Given the description of an element on the screen output the (x, y) to click on. 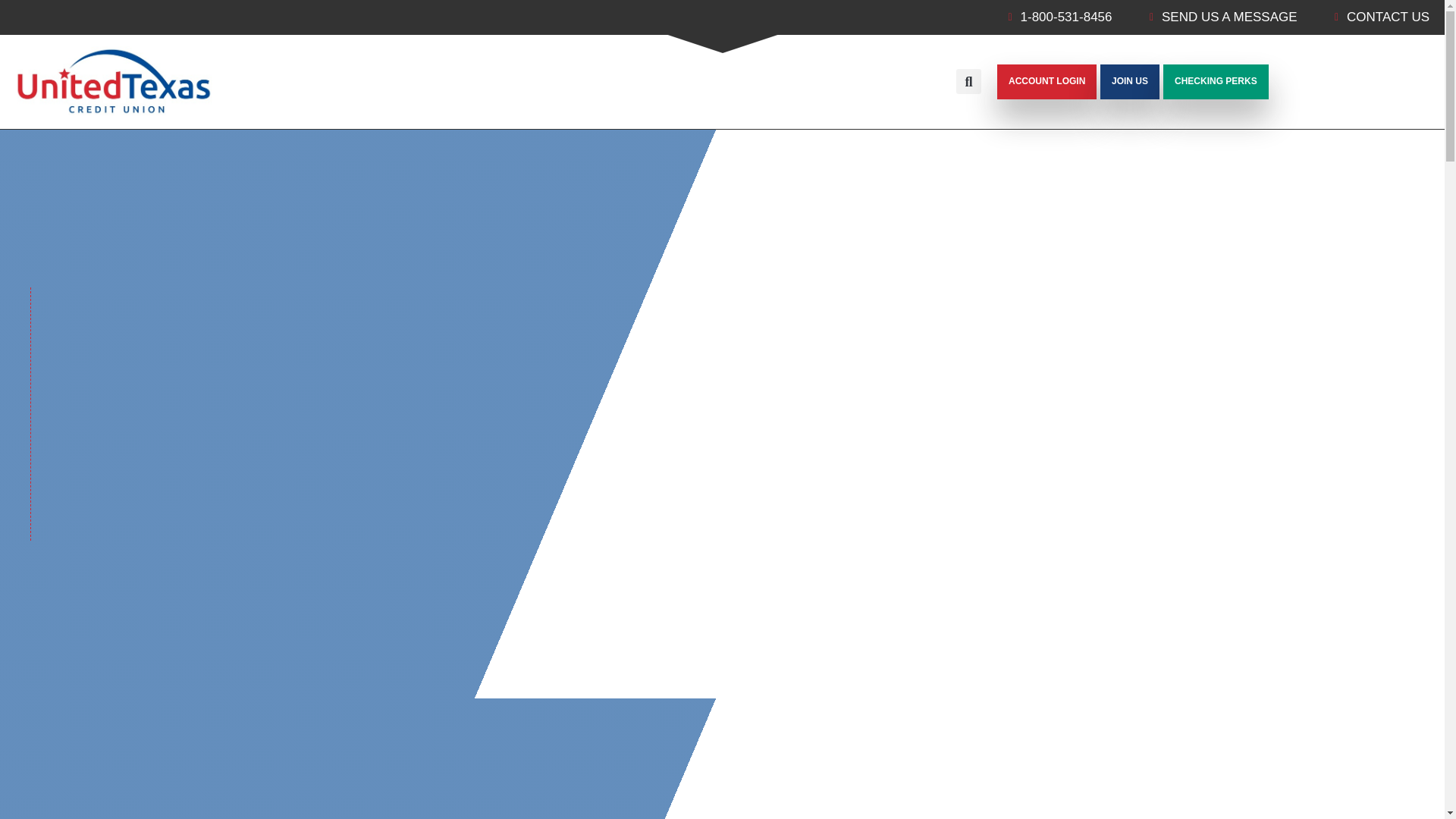
CHECKING PERKS (1215, 81)
ACCOUNT LOGIN (1046, 81)
CONTACT US (1376, 17)
SEND US A MESSAGE (1218, 17)
1-800-531-8456 (1055, 17)
JOIN US (1129, 81)
